Given the description of an element on the screen output the (x, y) to click on. 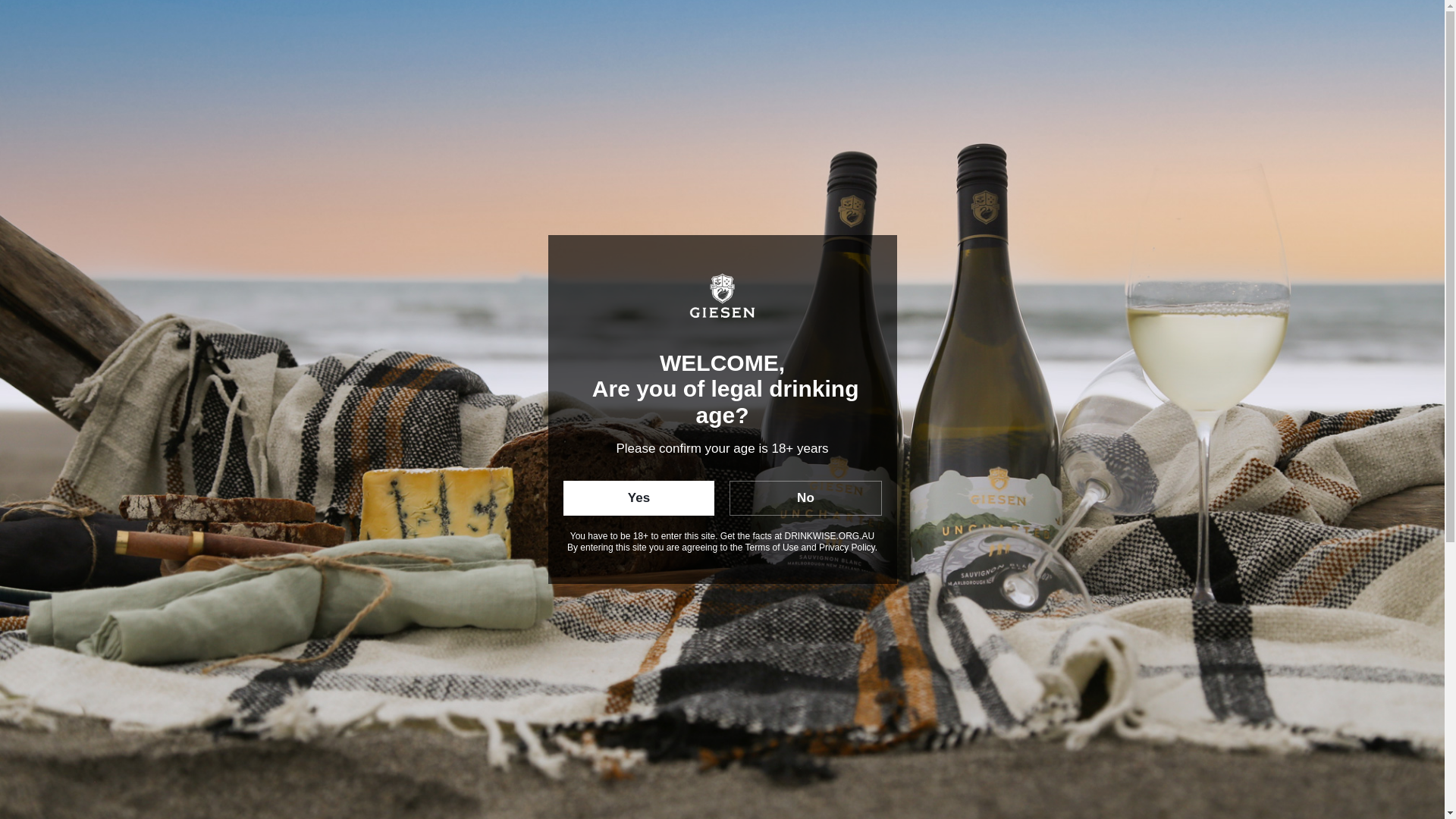
Sorry! Out of Stock Element type: text (924, 422)
Twin Pack 0% Alcohol - Marlborough Sauvignon Blanc Element type: text (598, 151)
Home Element type: text (403, 151)
0 Element type: text (1047, 41)
Yes Element type: text (638, 497)
FAQs Element type: text (843, 43)
Contact Element type: text (912, 43)
Wine Details Element type: text (924, 490)
Dietary Information Element type: text (924, 751)
No Element type: text (805, 497)
